Given the description of an element on the screen output the (x, y) to click on. 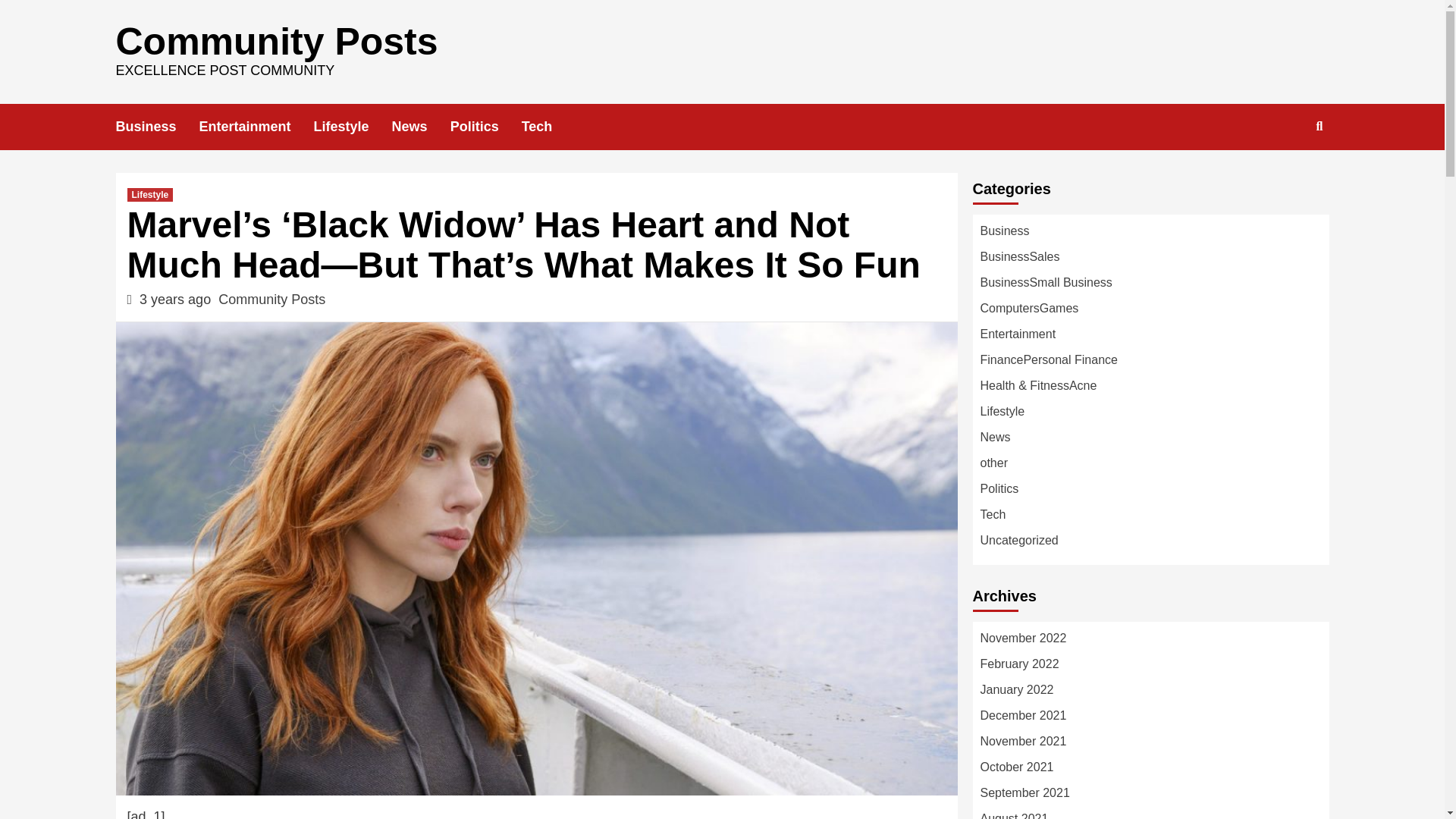
other (993, 462)
ComputersGames (1028, 308)
FinancePersonal Finance (1047, 359)
Business (1004, 230)
Search (1283, 175)
Community Posts (276, 41)
News (420, 126)
Tech (548, 126)
ComputersGames (1028, 308)
Lifestyle (352, 126)
Community Posts (271, 299)
BusinessSmall Business (1045, 282)
Entertainment (256, 126)
BusinessSales (1019, 256)
Business (156, 126)
